Given the description of an element on the screen output the (x, y) to click on. 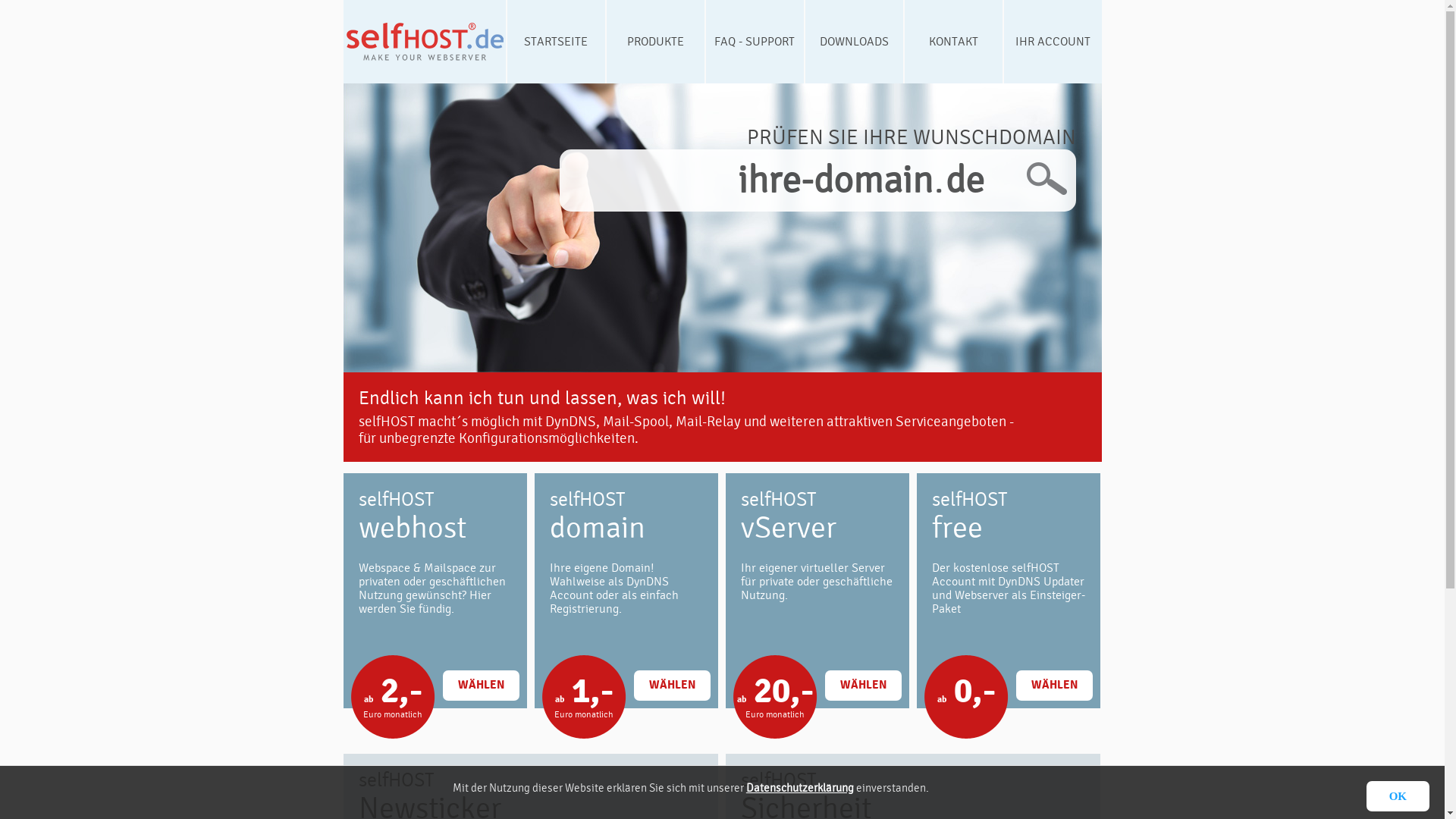
OK Element type: text (1397, 796)
PRODUKTE Element type: text (655, 41)
IHR ACCOUNT Element type: text (1052, 41)
KONTAKT Element type: text (952, 41)
DOWNLOADS Element type: text (854, 41)
STARTSEITE Element type: text (555, 41)
FAQ - SUPPORT Element type: text (754, 41)
